Given the description of an element on the screen output the (x, y) to click on. 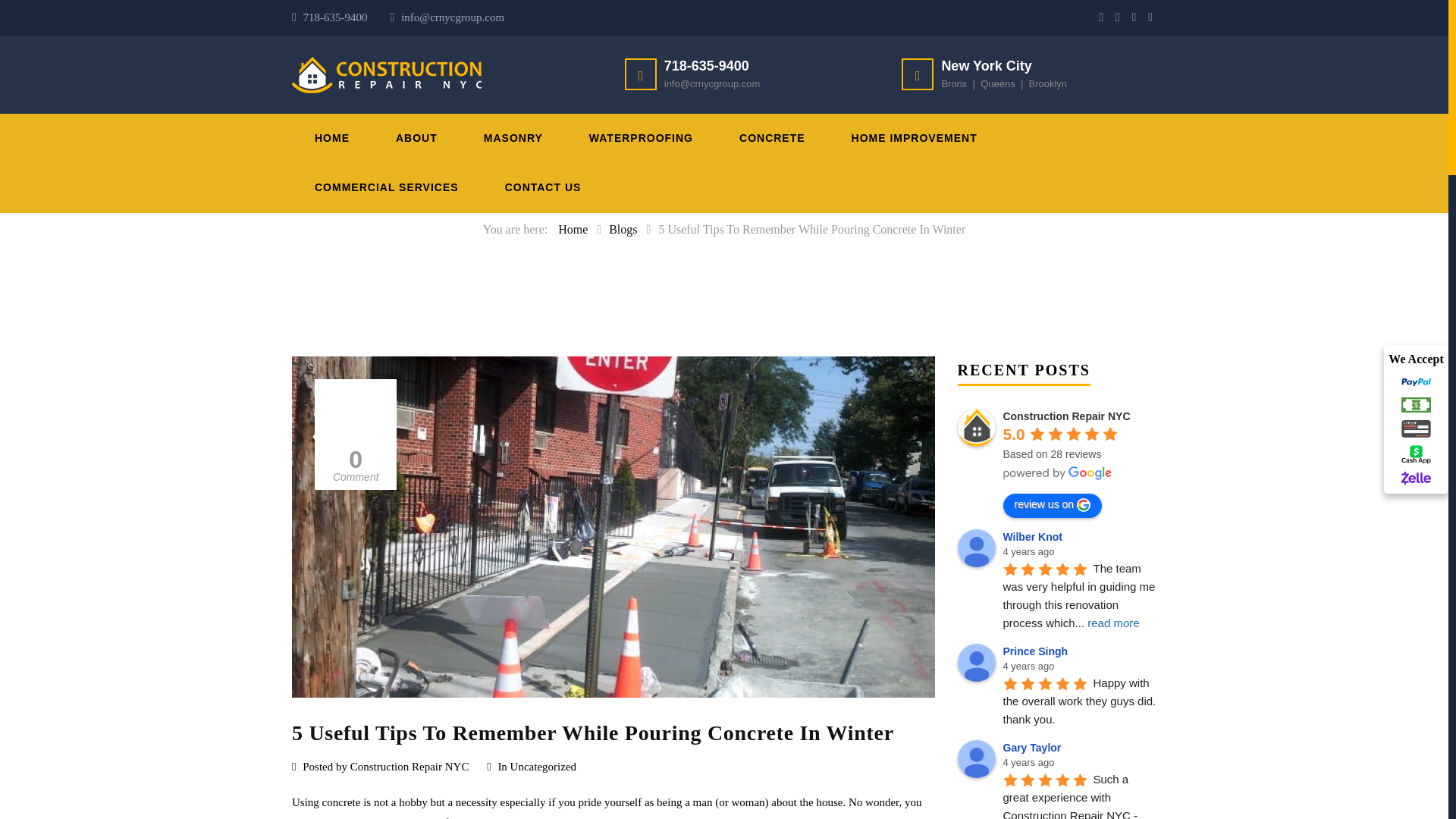
Construction Repair NYC (975, 427)
Gary Taylor (975, 759)
Prince Singh (975, 662)
powered by Google (1057, 472)
Wilber Knot (975, 548)
HOME (332, 137)
ABOUT (416, 137)
WATERPROOFING (641, 137)
MASONRY (513, 137)
